Given the description of an element on the screen output the (x, y) to click on. 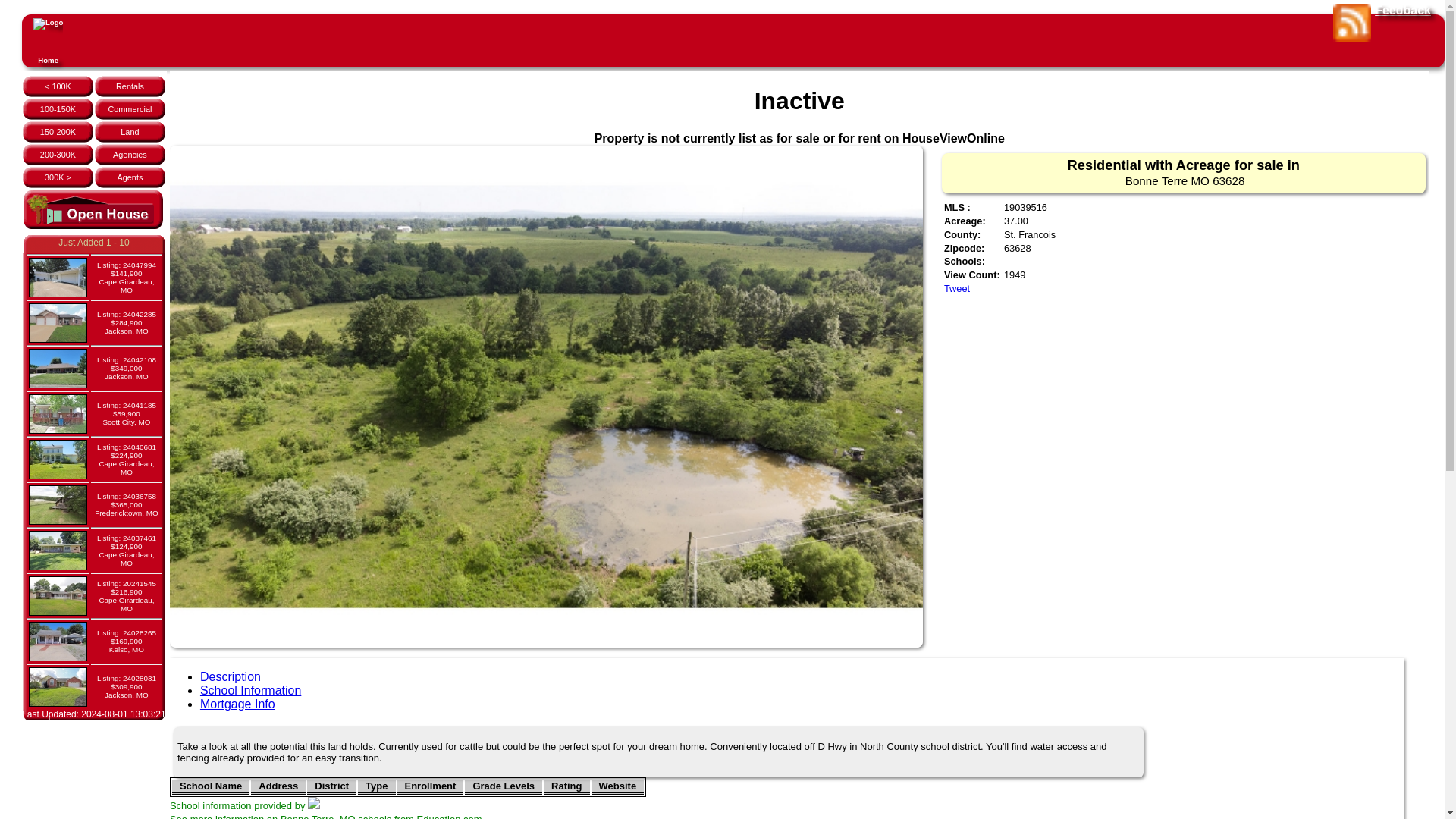
200-300K (57, 153)
Click To View Listing in Jackson MO (126, 322)
Realtors and Real Estate Agents (129, 176)
Real Estate Agencies (130, 153)
Agents (129, 176)
Commercial (129, 108)
Openhouse Listings in Southeast Missouri (93, 211)
Agencies (130, 153)
Description (230, 676)
Subscribe to RSS feed (1352, 22)
Rental Property (130, 85)
Rentals (130, 85)
100-150K (57, 108)
Land (129, 131)
